Given the description of an element on the screen output the (x, y) to click on. 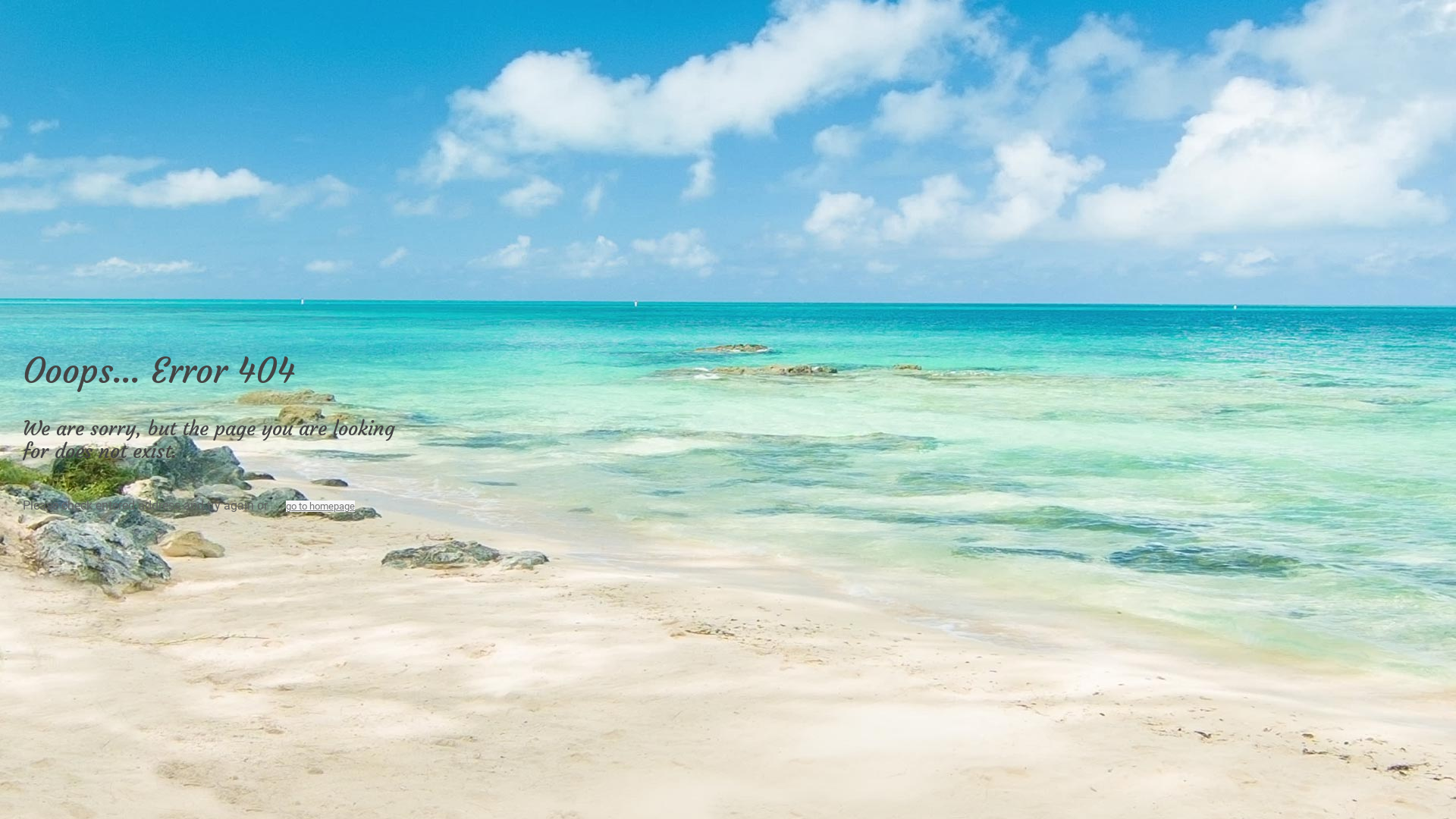
go to homepage Element type: text (319, 505)
